Given the description of an element on the screen output the (x, y) to click on. 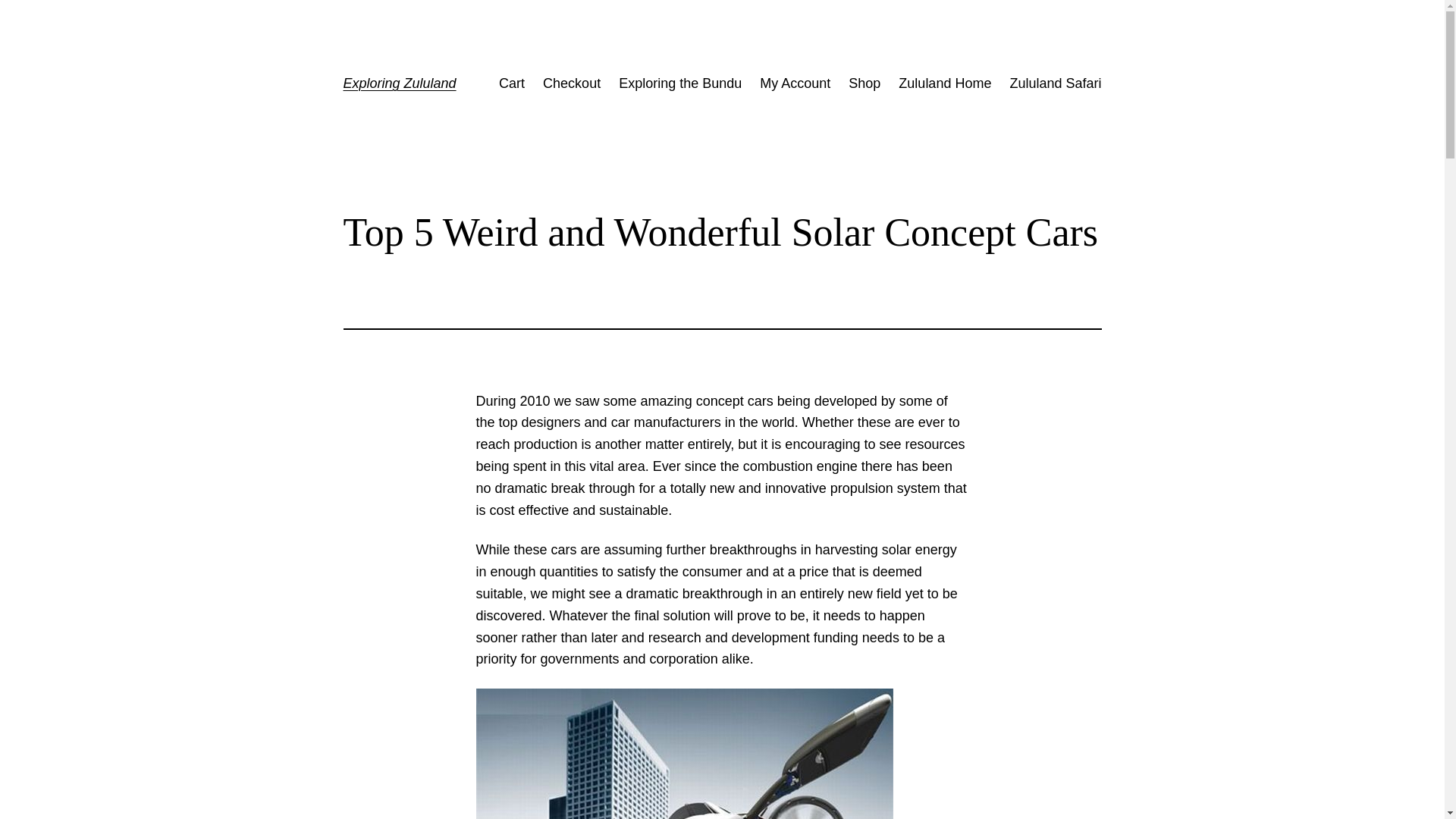
Exploring Zululand (398, 83)
Cart (511, 83)
Checkout (571, 83)
My Account (794, 83)
Zululand Safari (1054, 83)
Solar Powered Flying Car (684, 753)
Zululand Home (944, 83)
Exploring the Bundu (679, 83)
Shop (864, 83)
